Given the description of an element on the screen output the (x, y) to click on. 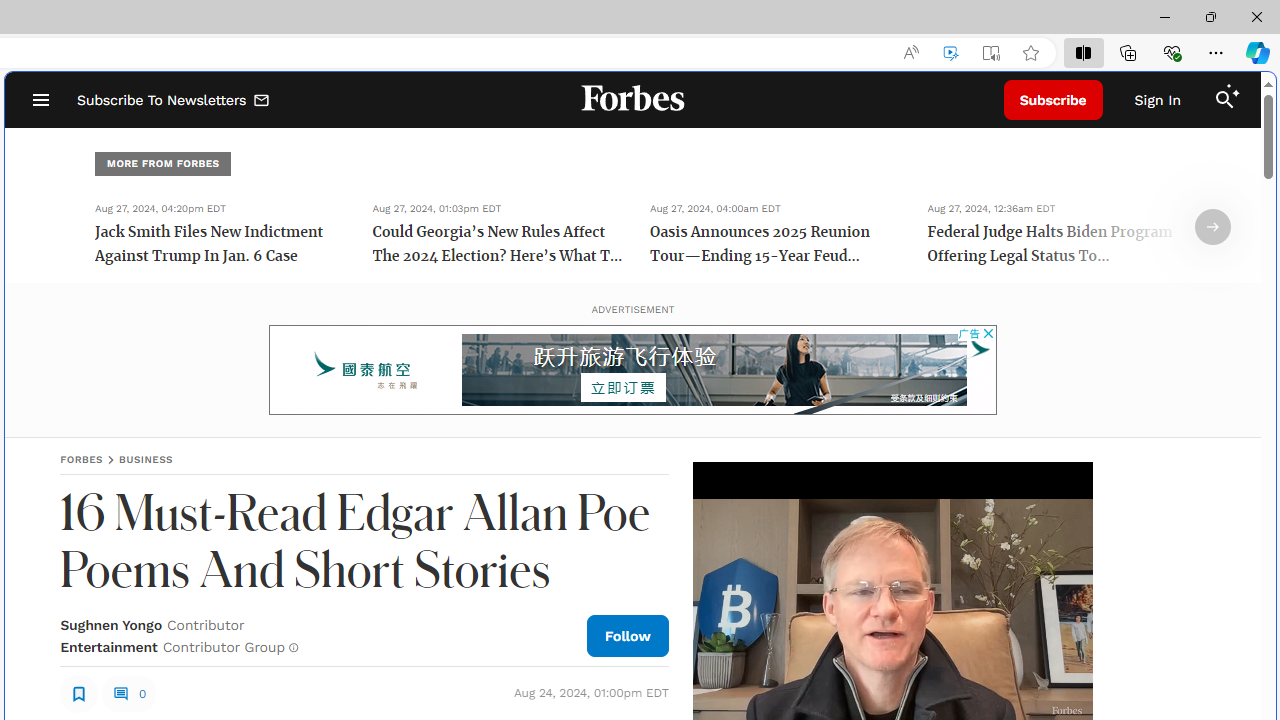
Subscribe (1053, 99)
Jack Smith Files New Indictment Against Trump In Jan. 6 Case (220, 245)
Follow Author (627, 635)
Settings and more (Alt+F) (1215, 52)
Restore (1210, 16)
Close (1256, 16)
Search (1224, 99)
Class: fs-icon fs-icon--arrow-right (1212, 227)
Collections (1128, 52)
Forbes Logo (632, 99)
Split screen (1083, 52)
Class: fs-icon fs-icon--comment (120, 693)
Open Navigation Menu (40, 99)
